Given the description of an element on the screen output the (x, y) to click on. 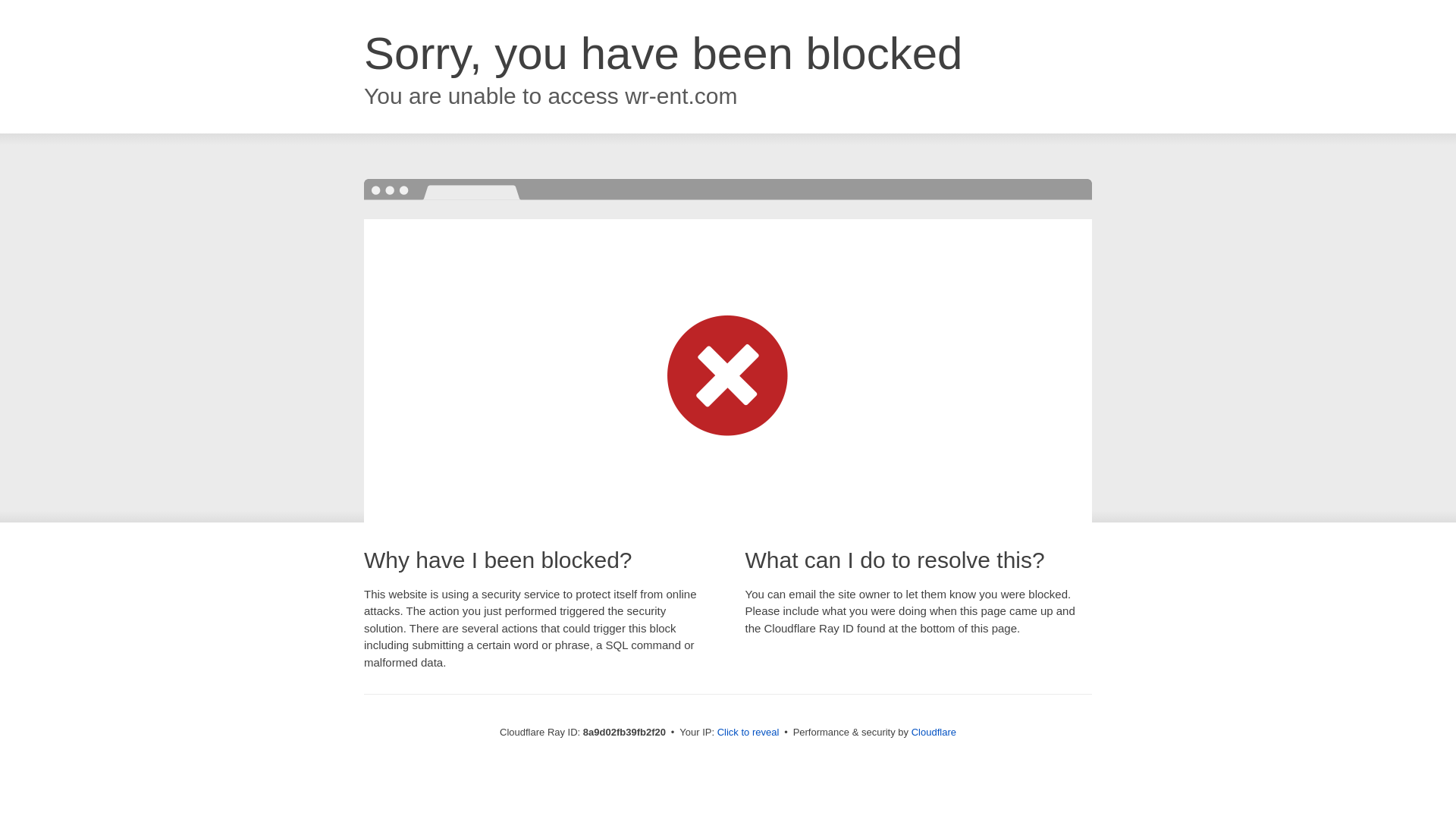
Click to reveal (747, 732)
Cloudflare (933, 731)
